Given the description of an element on the screen output the (x, y) to click on. 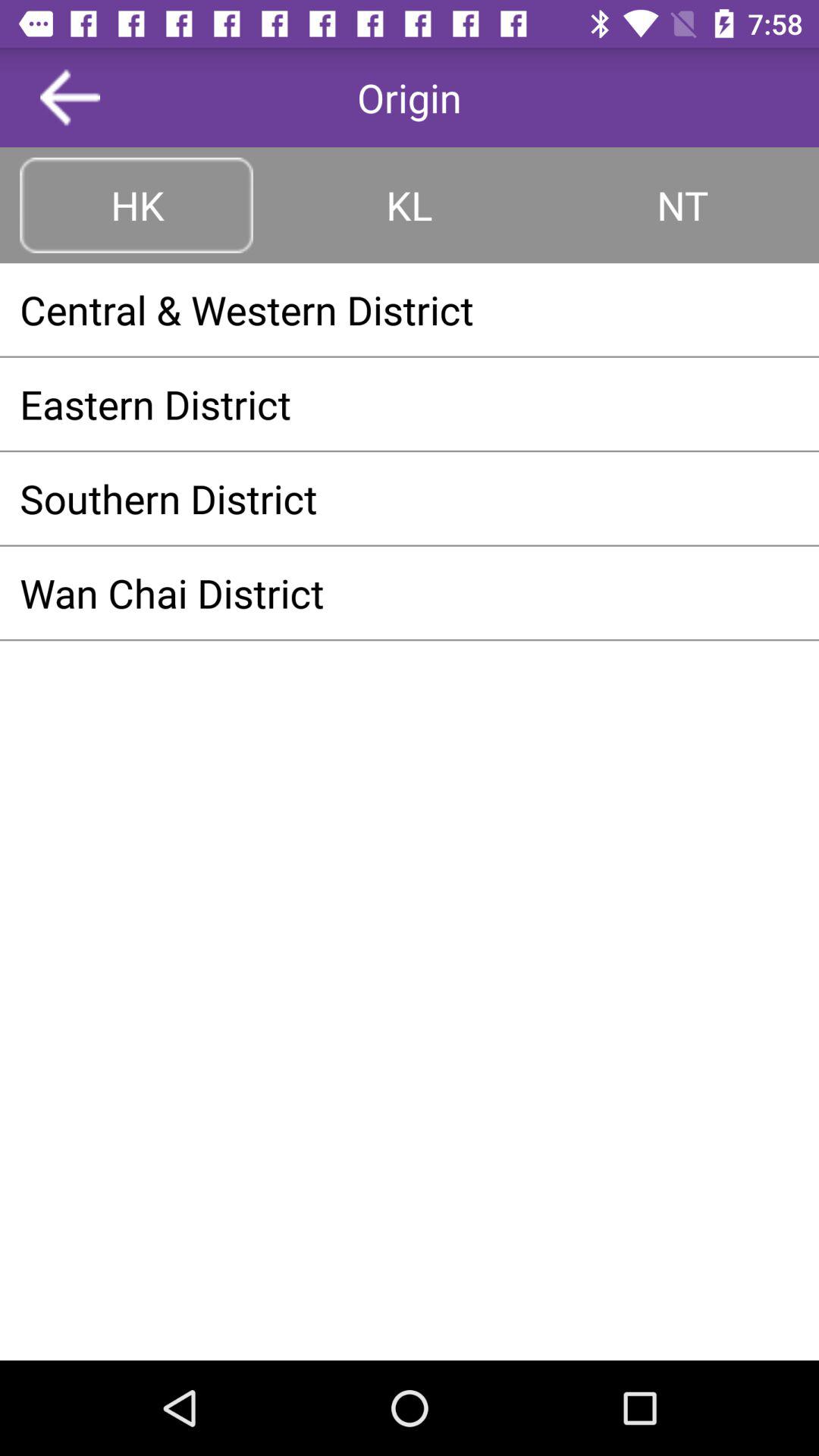
tap icon to the left of kl button (136, 205)
